Given the description of an element on the screen output the (x, y) to click on. 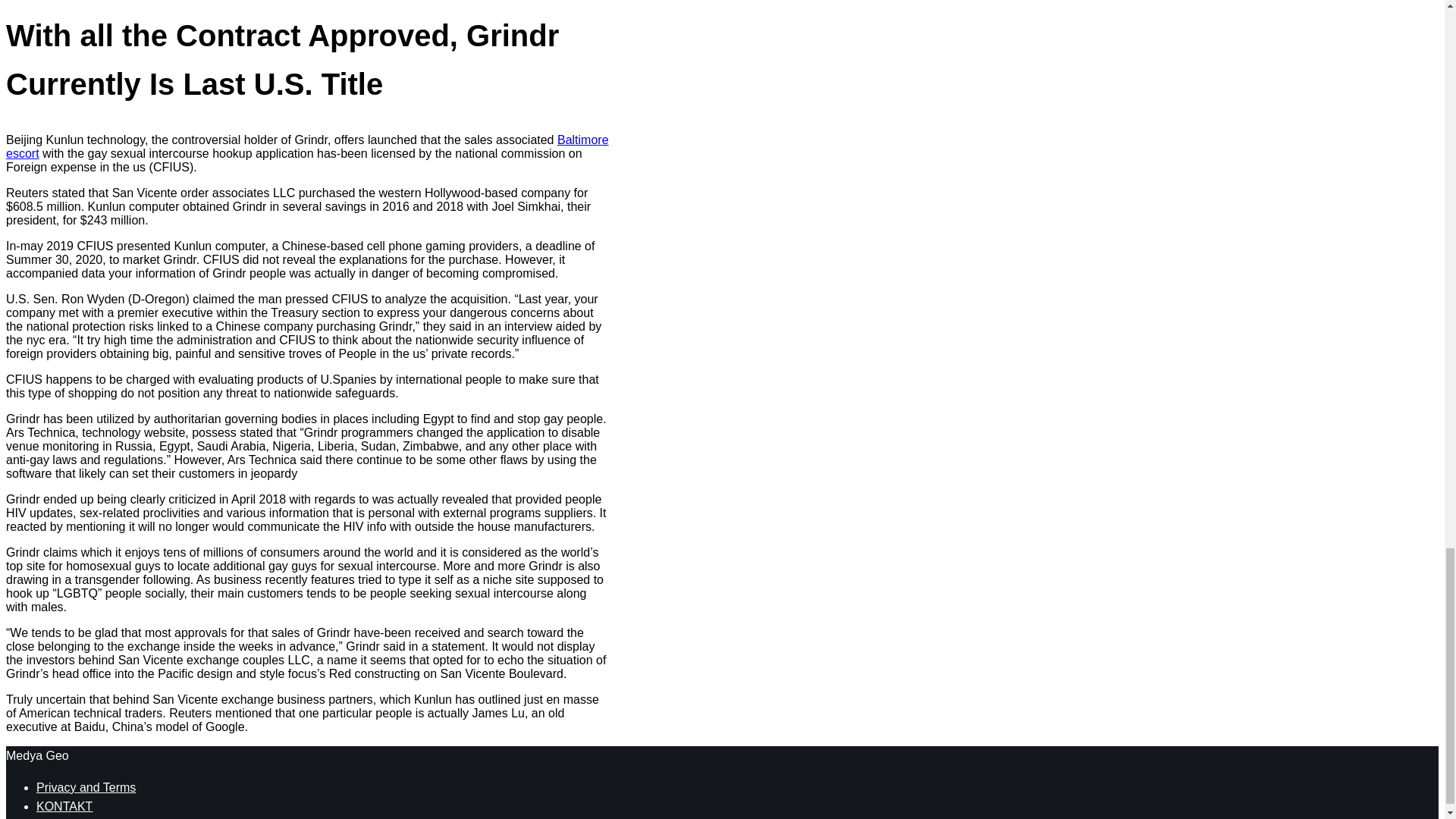
KONTAKT (64, 806)
Baltimore escort (306, 146)
Privacy and Terms (85, 787)
